Given the description of an element on the screen output the (x, y) to click on. 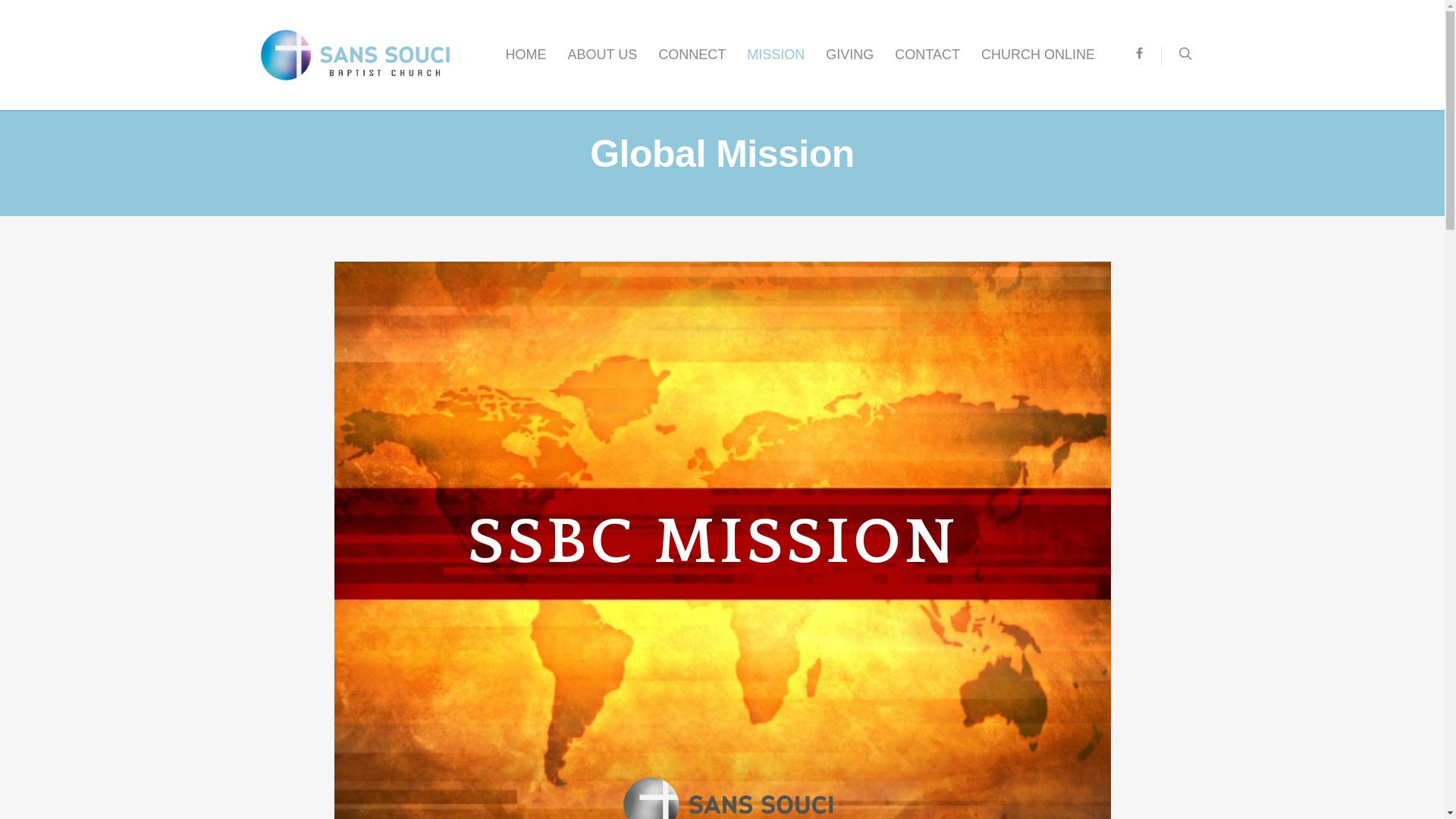
HOME Element type: text (525, 65)
CONNECT Element type: text (691, 65)
GIVING Element type: text (849, 65)
ABOUT US Element type: text (602, 65)
MISSION Element type: text (775, 65)
CHURCH ONLINE Element type: text (1037, 65)
CONTACT Element type: text (926, 65)
